Given the description of an element on the screen output the (x, y) to click on. 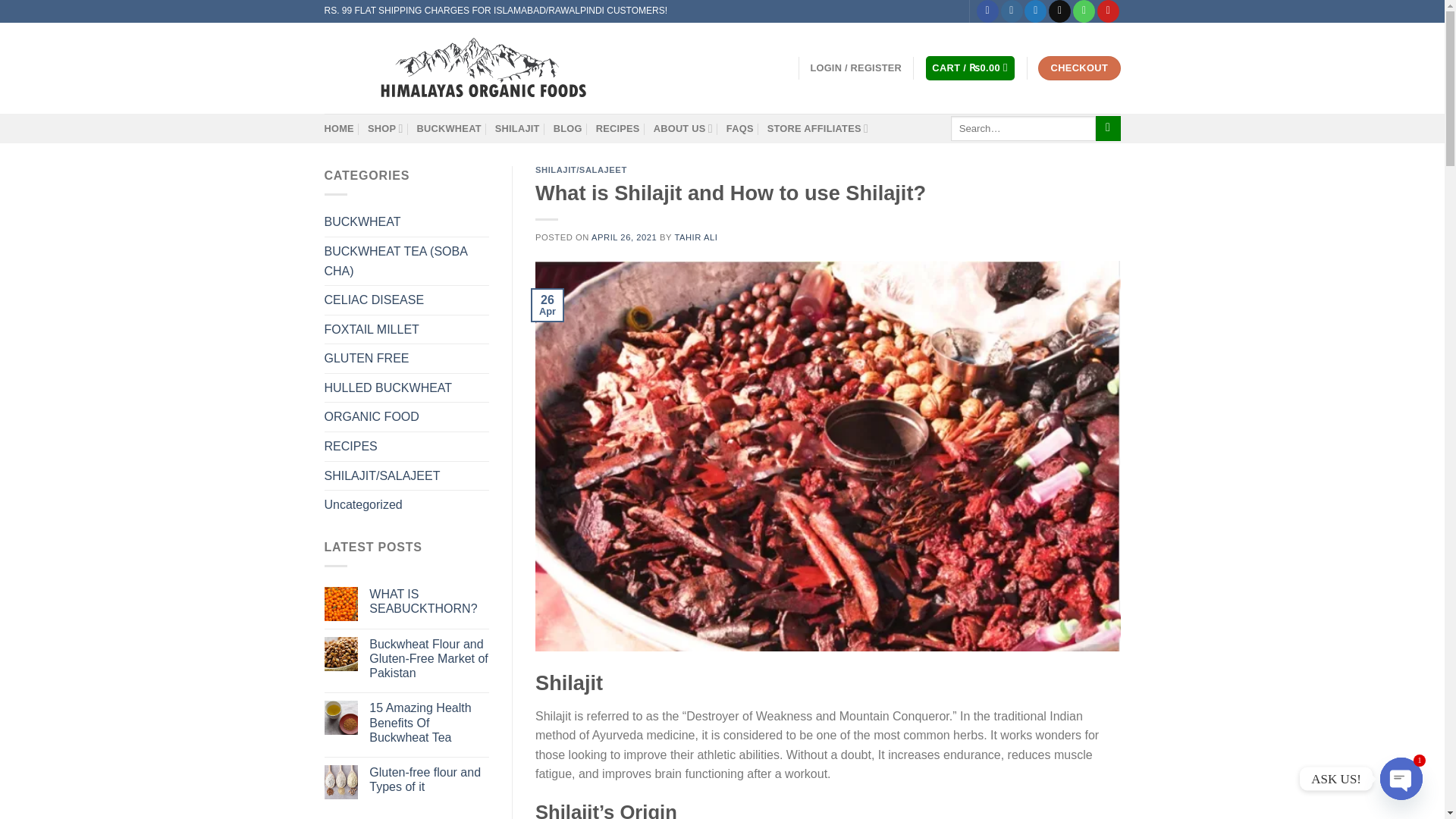
HOME (338, 128)
Buckwheat Flour and Gluten-Free Market of Pakistan (429, 658)
SHOP (385, 128)
Cart (970, 68)
SHILAJIT (517, 128)
CHECKOUT (1078, 68)
Gluten-free flour and Types of it (429, 778)
RECIPES (617, 128)
ABOUT US (683, 128)
